Given the description of an element on the screen output the (x, y) to click on. 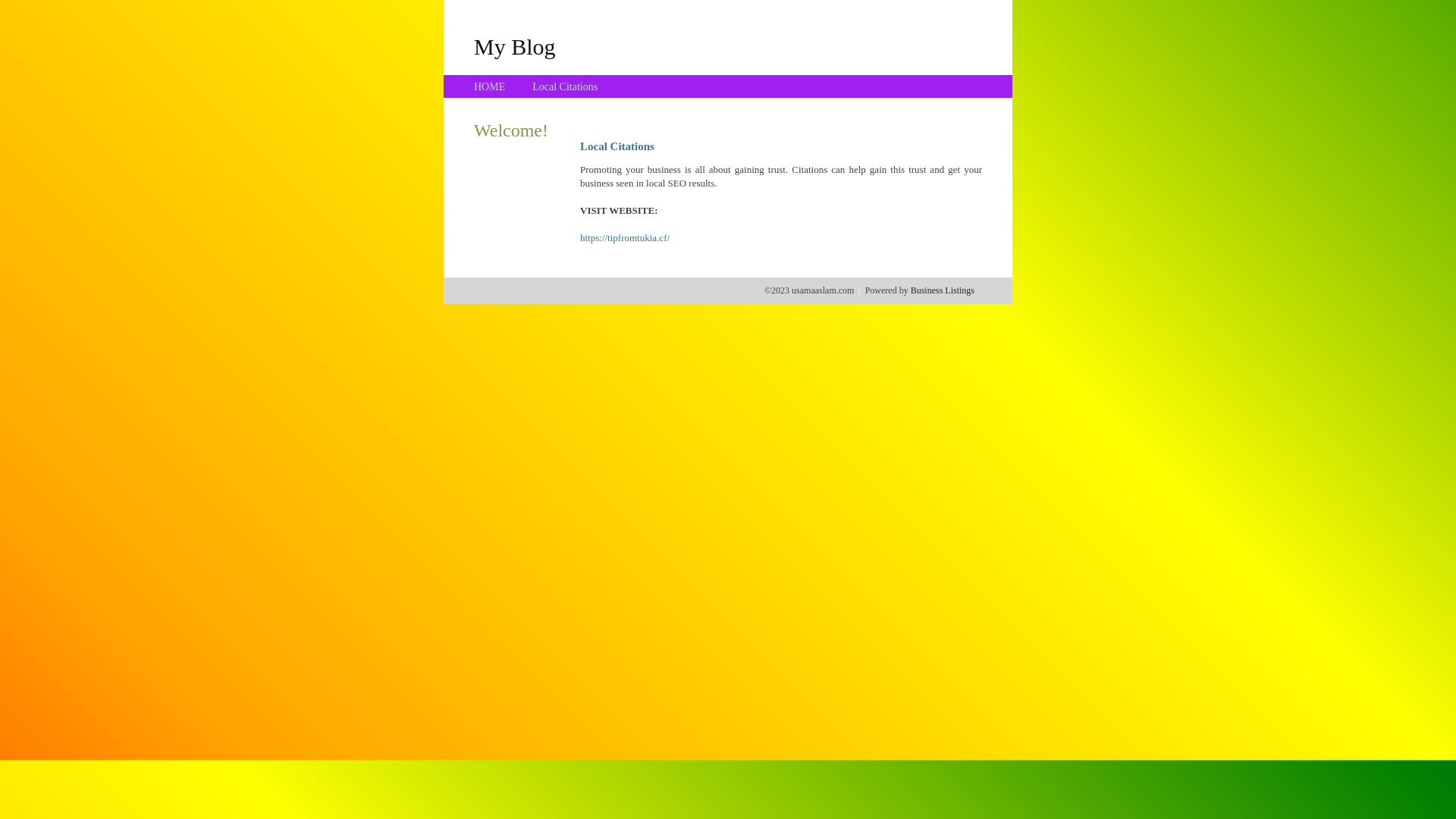
https://tipfromtukia.cf/ Element type: text (624, 237)
My Blog Element type: text (514, 46)
Local Citations Element type: text (564, 86)
HOME Element type: text (489, 86)
Business Listings Element type: text (942, 290)
